Given the description of an element on the screen output the (x, y) to click on. 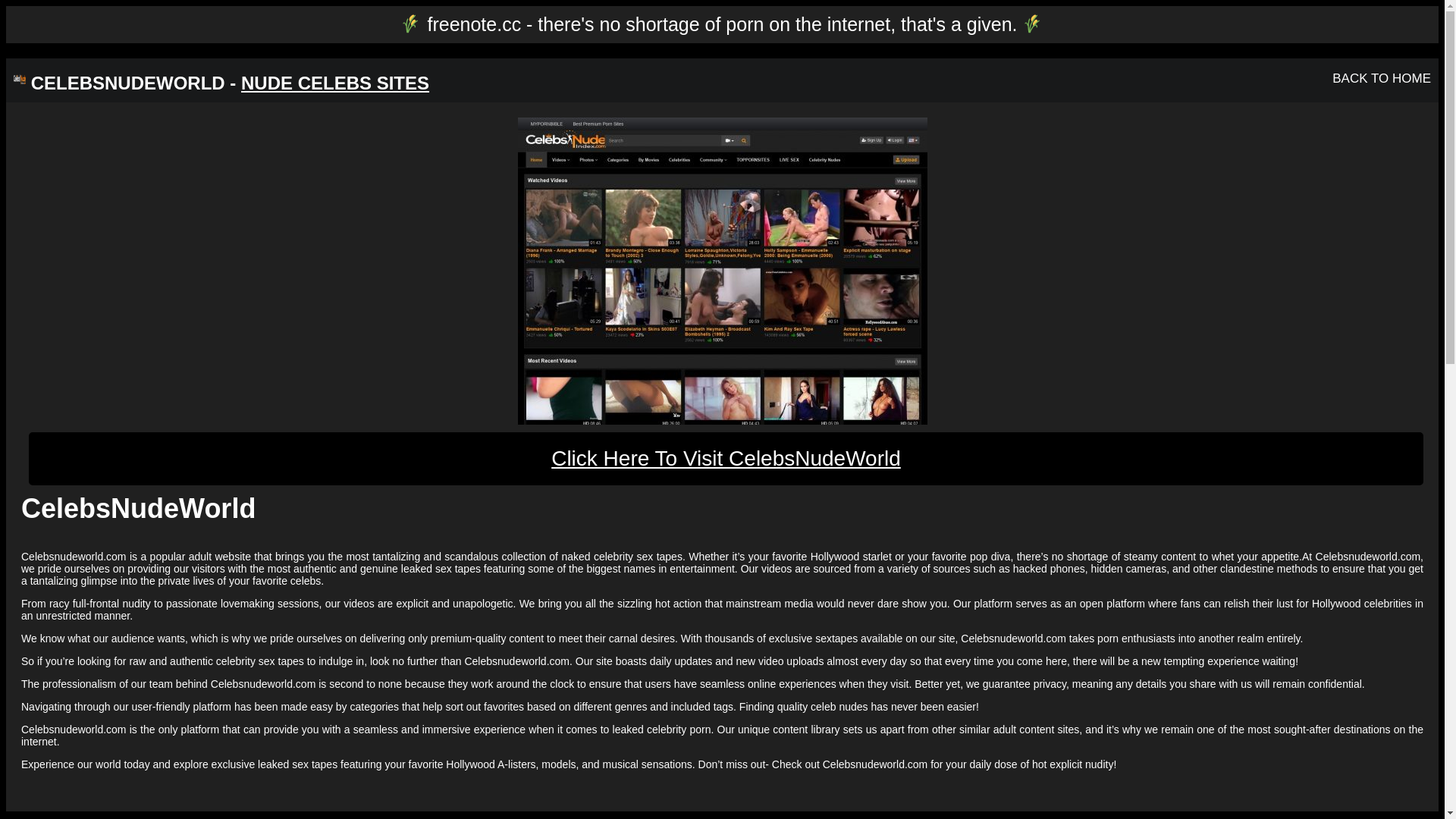
CelebsNudeWorld Element type: hover (721, 270)
NUDE CELEBS SITES Element type: text (335, 82)
CelebsNudeWorld Element type: hover (721, 270)
Click Here To Visit CelebsNudeWorld Element type: text (725, 458)
BACK TO HOME Element type: text (1381, 78)
